Given the description of an element on the screen output the (x, y) to click on. 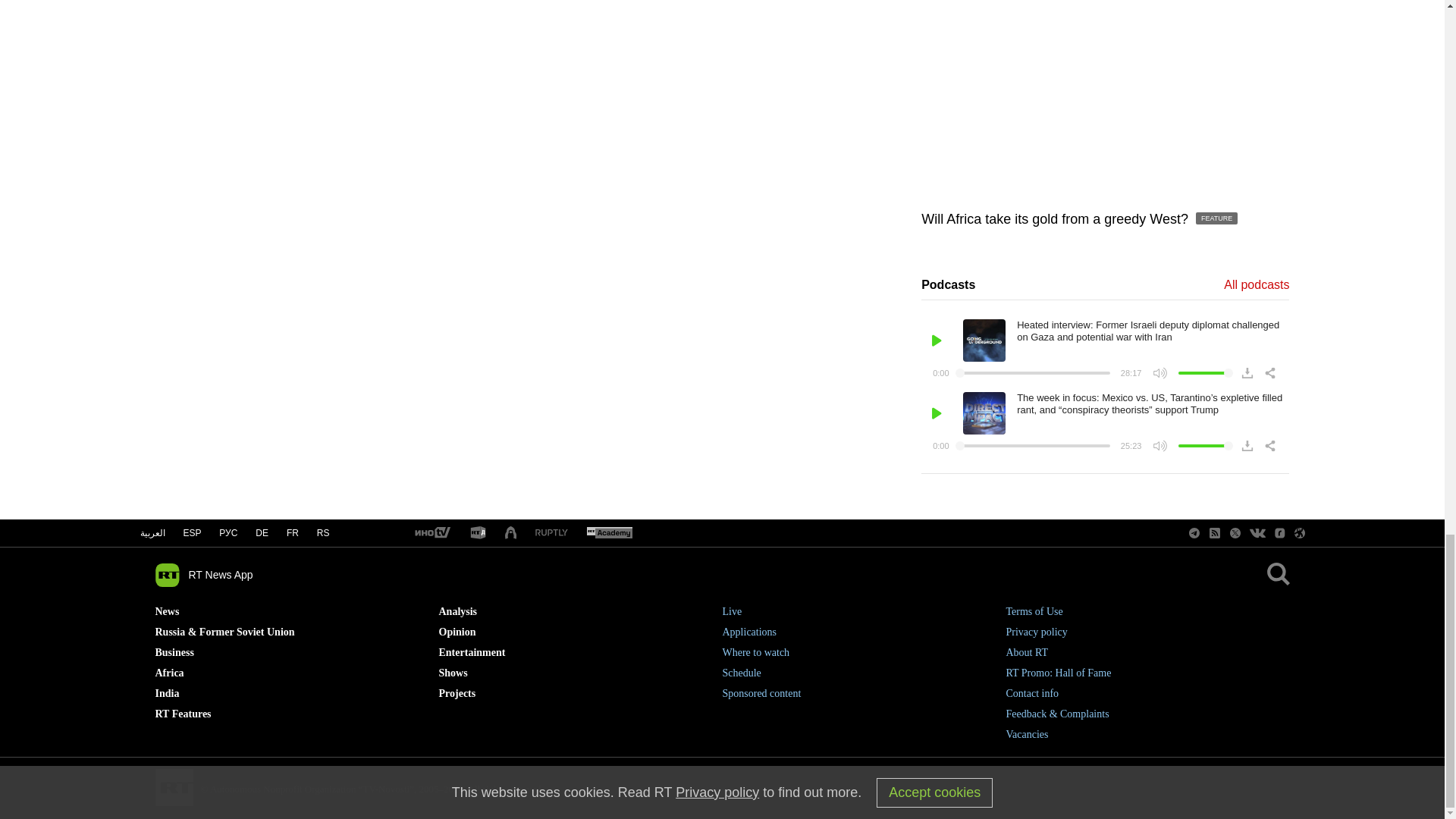
RT  (431, 533)
RT  (551, 533)
RT  (608, 533)
RT  (478, 533)
